Given the description of an element on the screen output the (x, y) to click on. 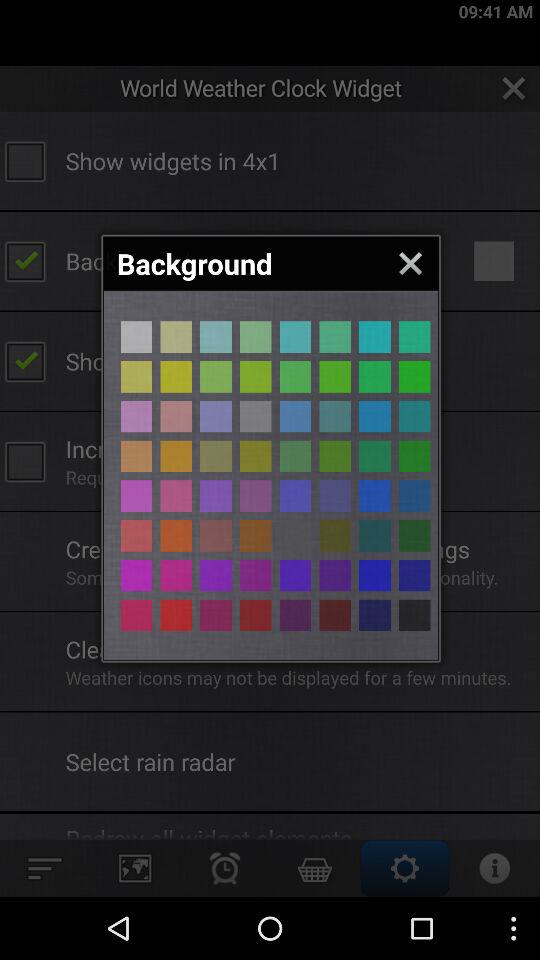
choose color (215, 376)
